Given the description of an element on the screen output the (x, y) to click on. 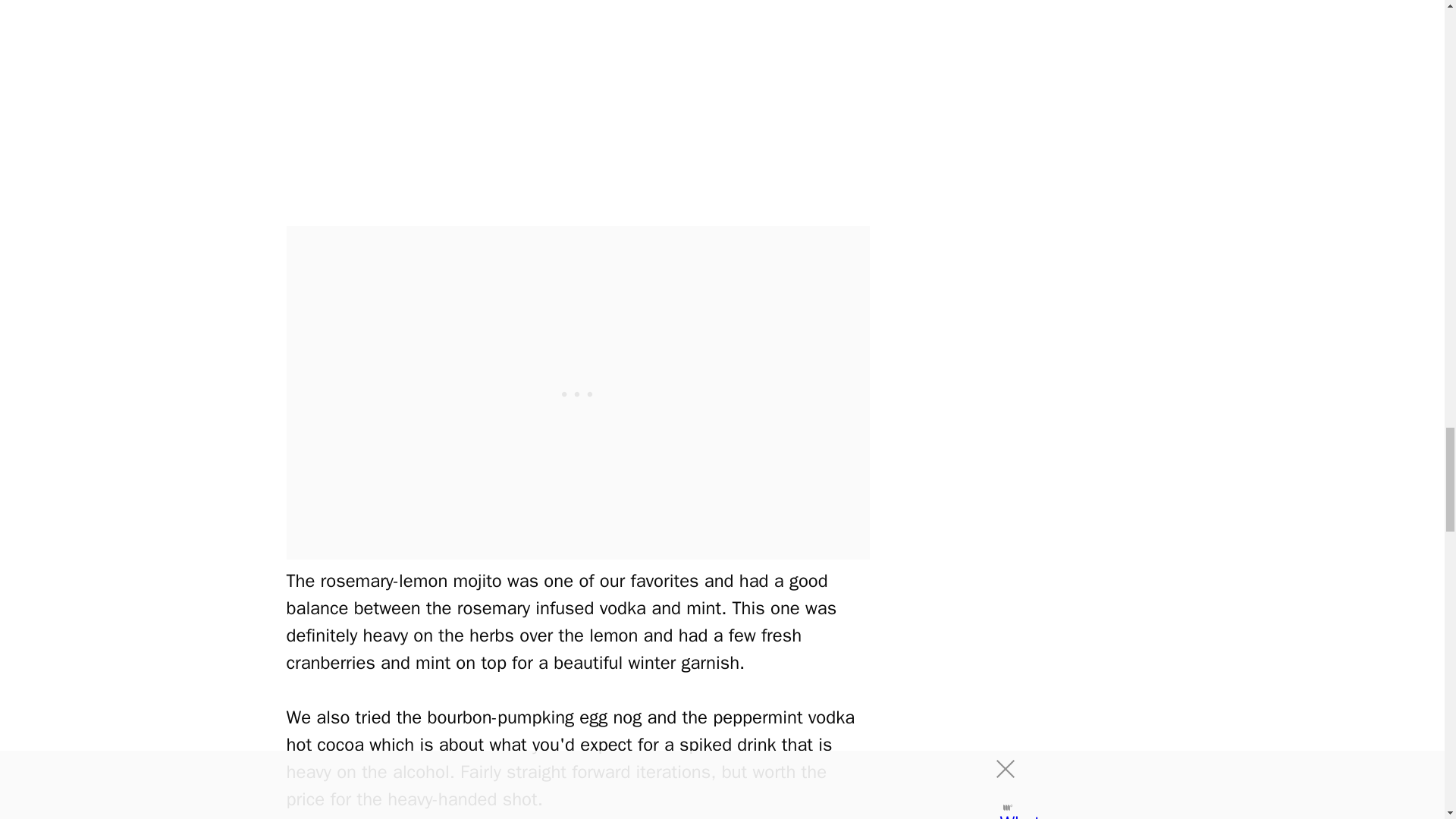
Spiked Drinks at Tinsel Town Cocktails (577, 99)
